Given the description of an element on the screen output the (x, y) to click on. 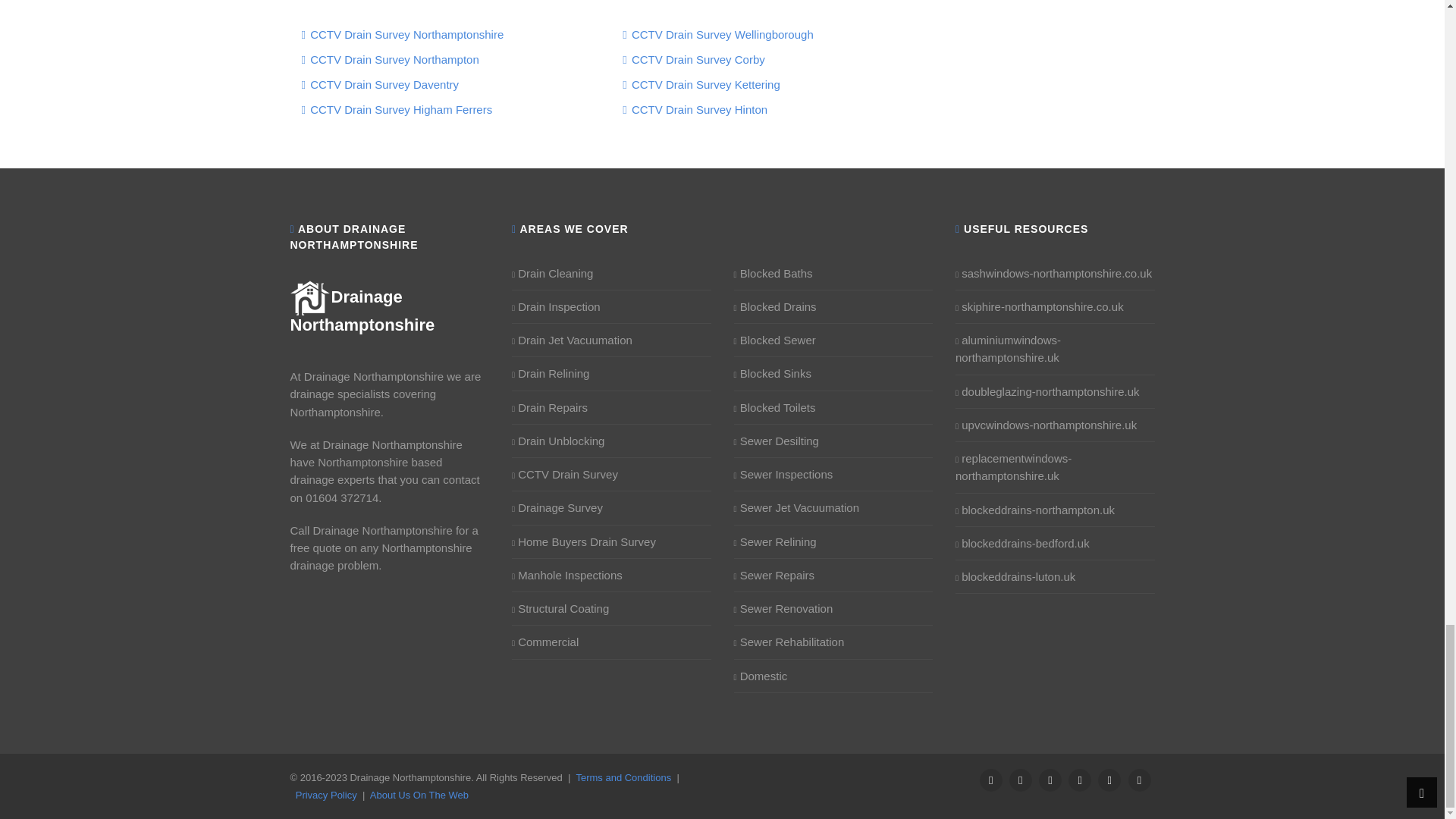
drainagenorthamptonshire.uk (361, 310)
